Given the description of an element on the screen output the (x, y) to click on. 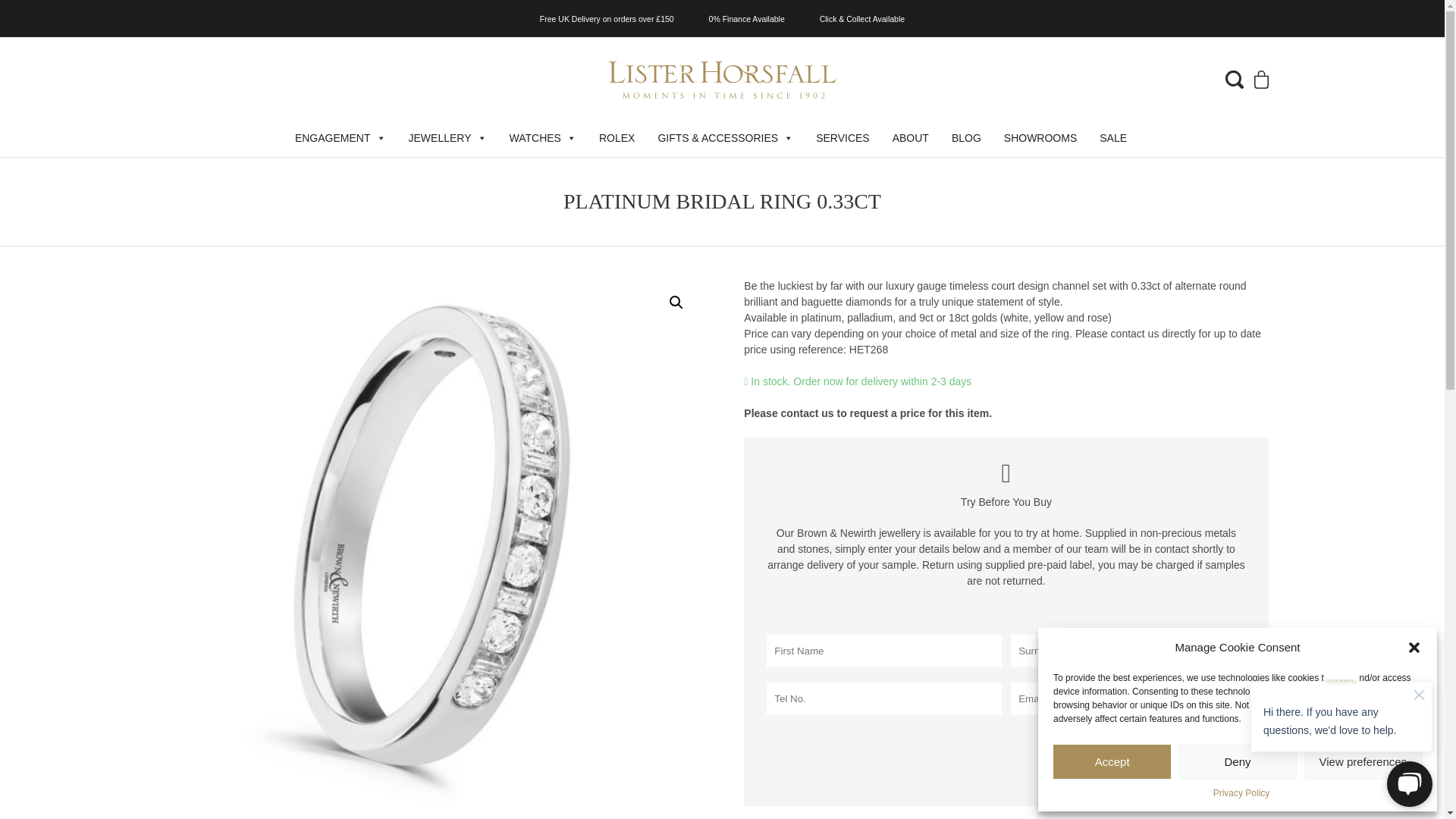
Submit (1199, 763)
Privacy Policy (1240, 793)
View preferences (1363, 761)
JEWELLERY (446, 137)
Accept (1111, 761)
ENGAGEMENT (340, 137)
Deny (1236, 761)
